Given the description of an element on the screen output the (x, y) to click on. 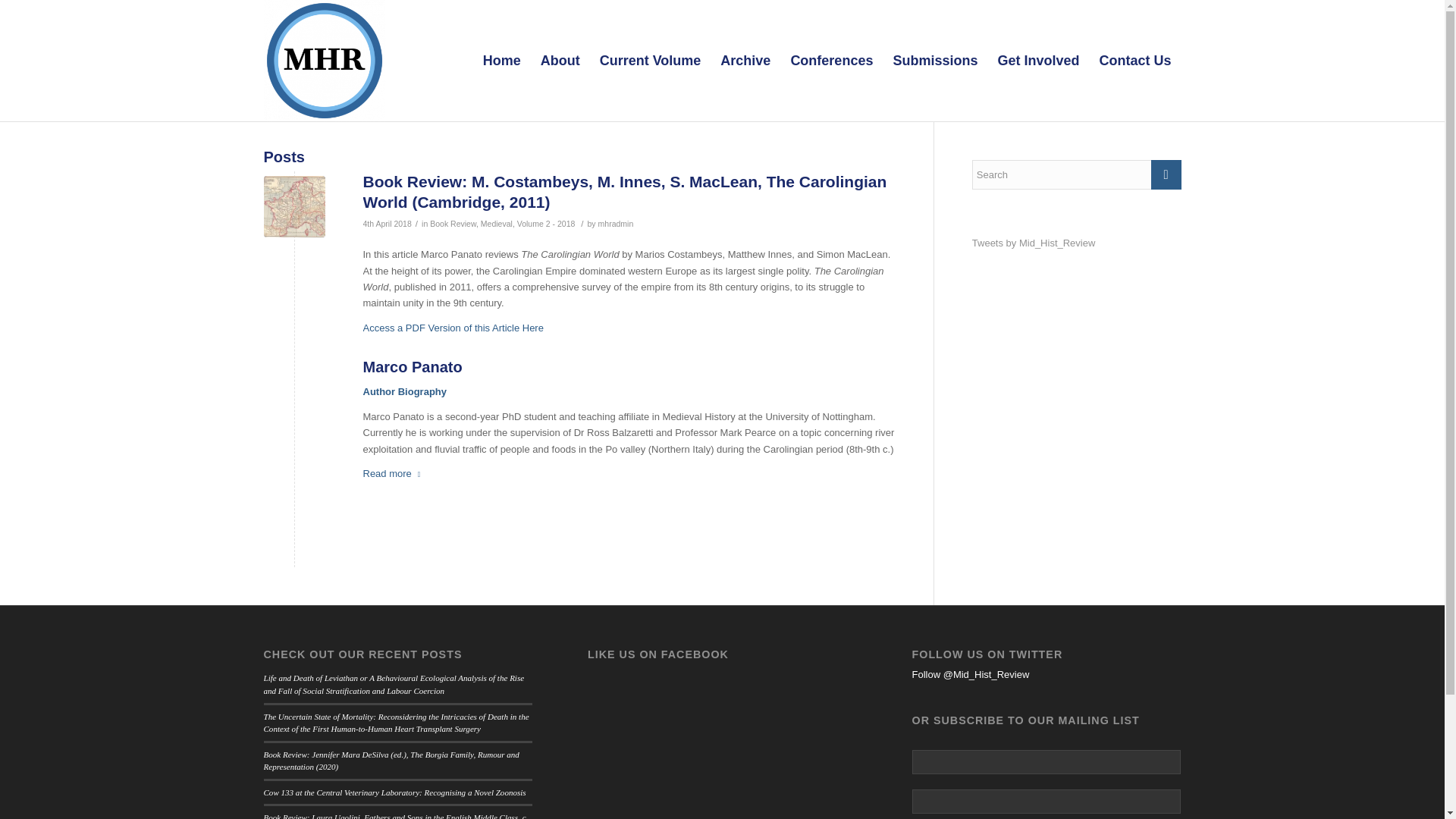
Posts by mhradmin (615, 223)
Read more (394, 474)
Access a PDF Version of this Article Here (452, 327)
Book Review (452, 223)
Volume 2 - 2018 (545, 223)
Current Volume (650, 60)
Medieval (496, 223)
